Given the description of an element on the screen output the (x, y) to click on. 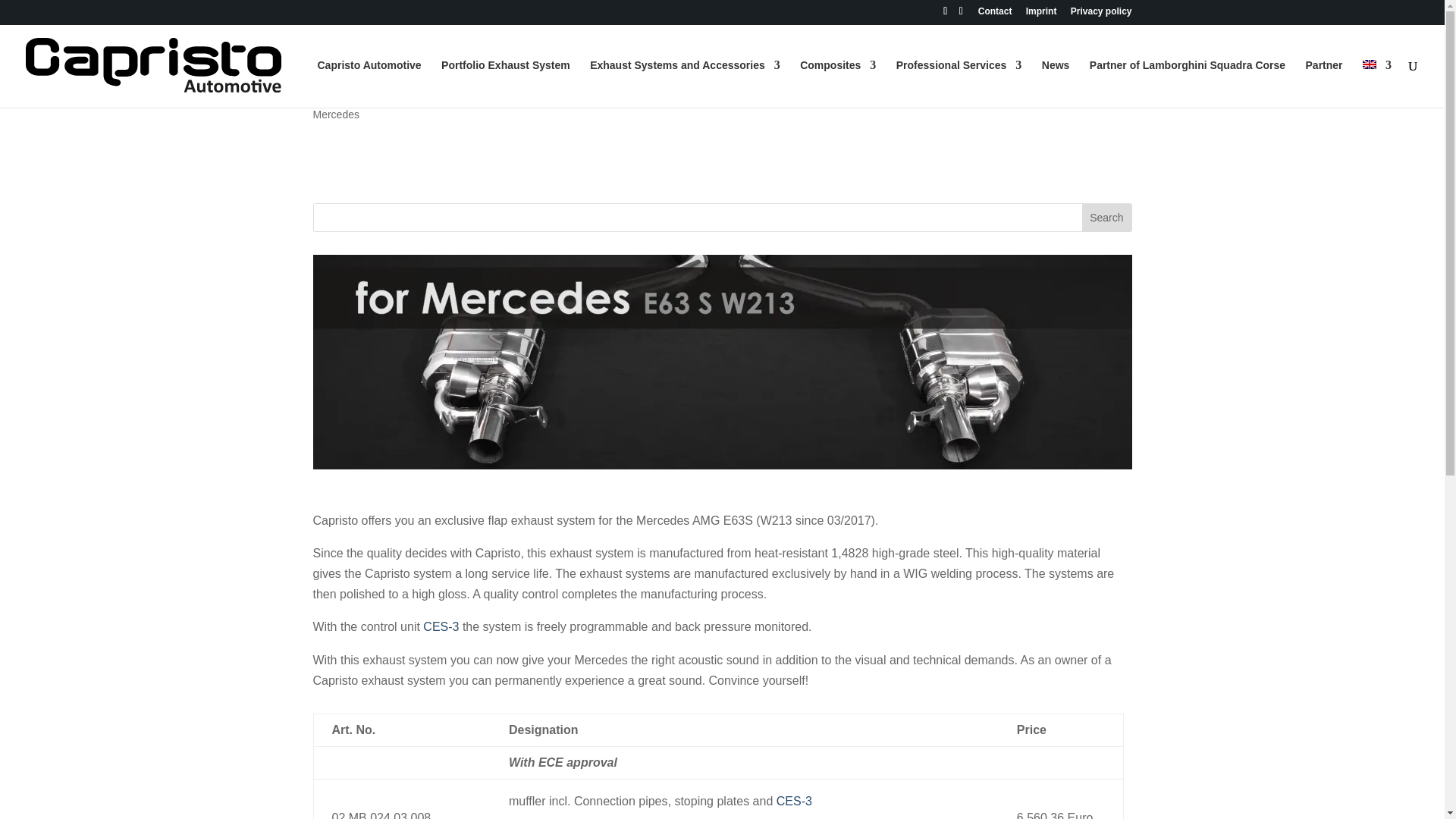
Mercedes (335, 124)
Composites (837, 83)
Capristo Automotive (368, 83)
Exhaust Systems and Accessories (684, 83)
Imprint (1041, 14)
Professional Services (959, 83)
Portfolio Exhaust System (505, 83)
Search (1106, 216)
Search (1106, 216)
Privacy policy (1101, 14)
CES-3 (440, 626)
Partner of Lamborghini Squadra Corse (1187, 83)
Search (1106, 216)
Contact (994, 14)
CES-3 (794, 800)
